Given the description of an element on the screen output the (x, y) to click on. 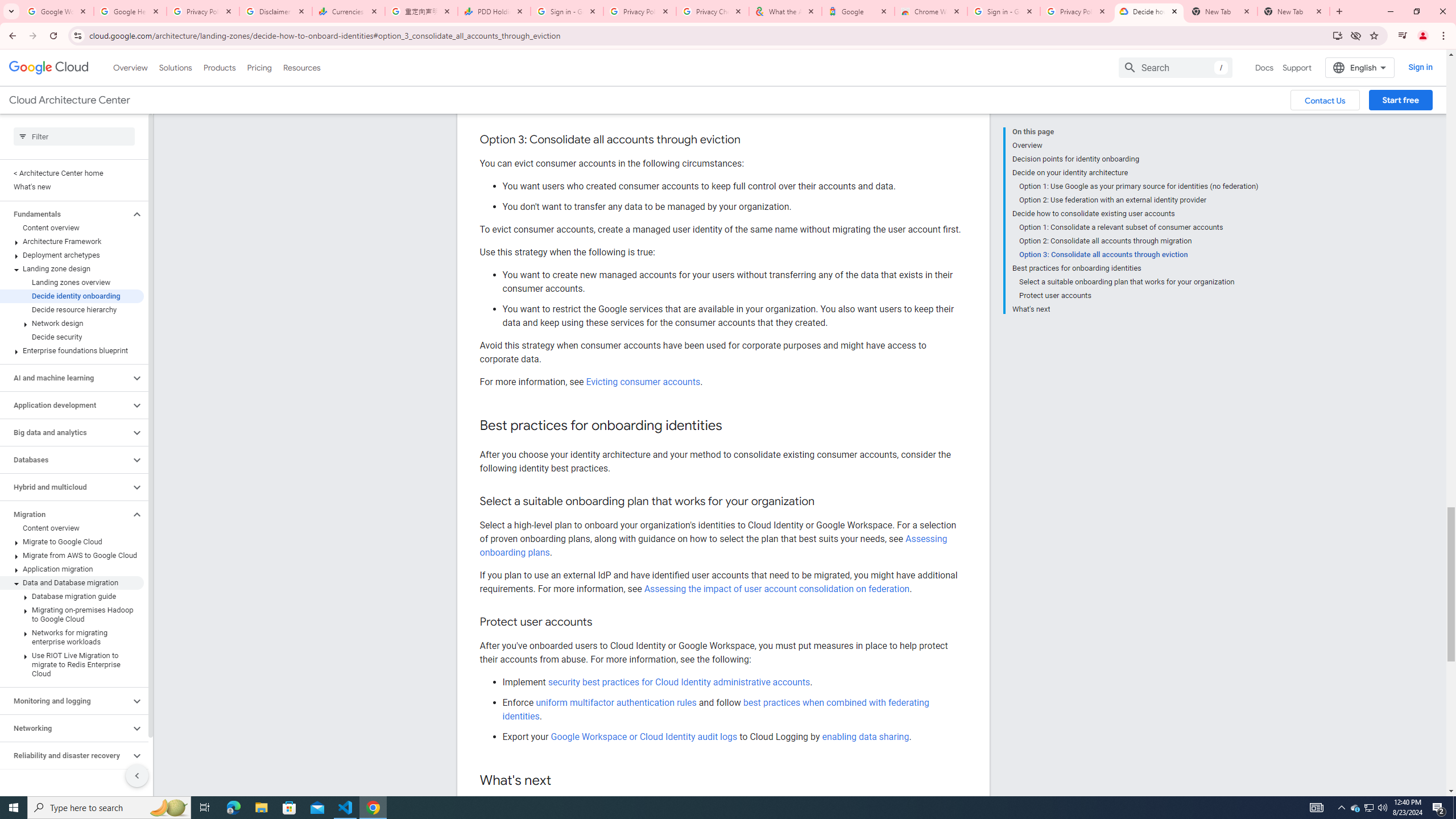
Monitoring and logging (64, 701)
Third-party cookies blocked (1355, 35)
Products (218, 67)
Decide identity onboarding (72, 296)
Decide on your identity architecture (1134, 172)
Sign in - Google Accounts (1003, 11)
Network design (72, 323)
Hide side navigation (136, 775)
View site information (77, 35)
What's next (1134, 307)
Evicting consumer accounts (642, 381)
Landing zones overview (72, 282)
